Given the description of an element on the screen output the (x, y) to click on. 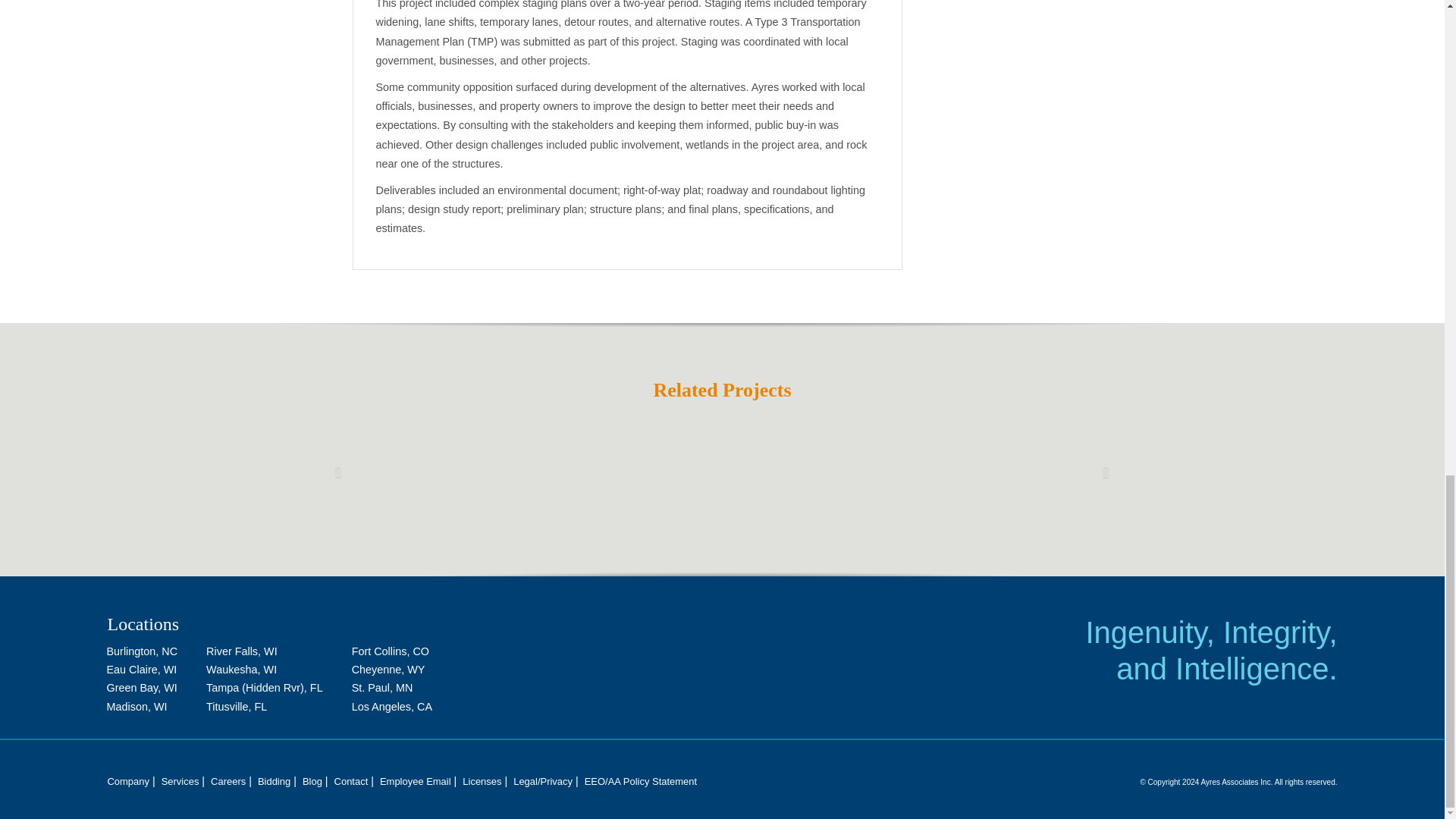
Facebook (1227, 738)
Instagram (1317, 738)
LinkedIn (1272, 738)
